Given the description of an element on the screen output the (x, y) to click on. 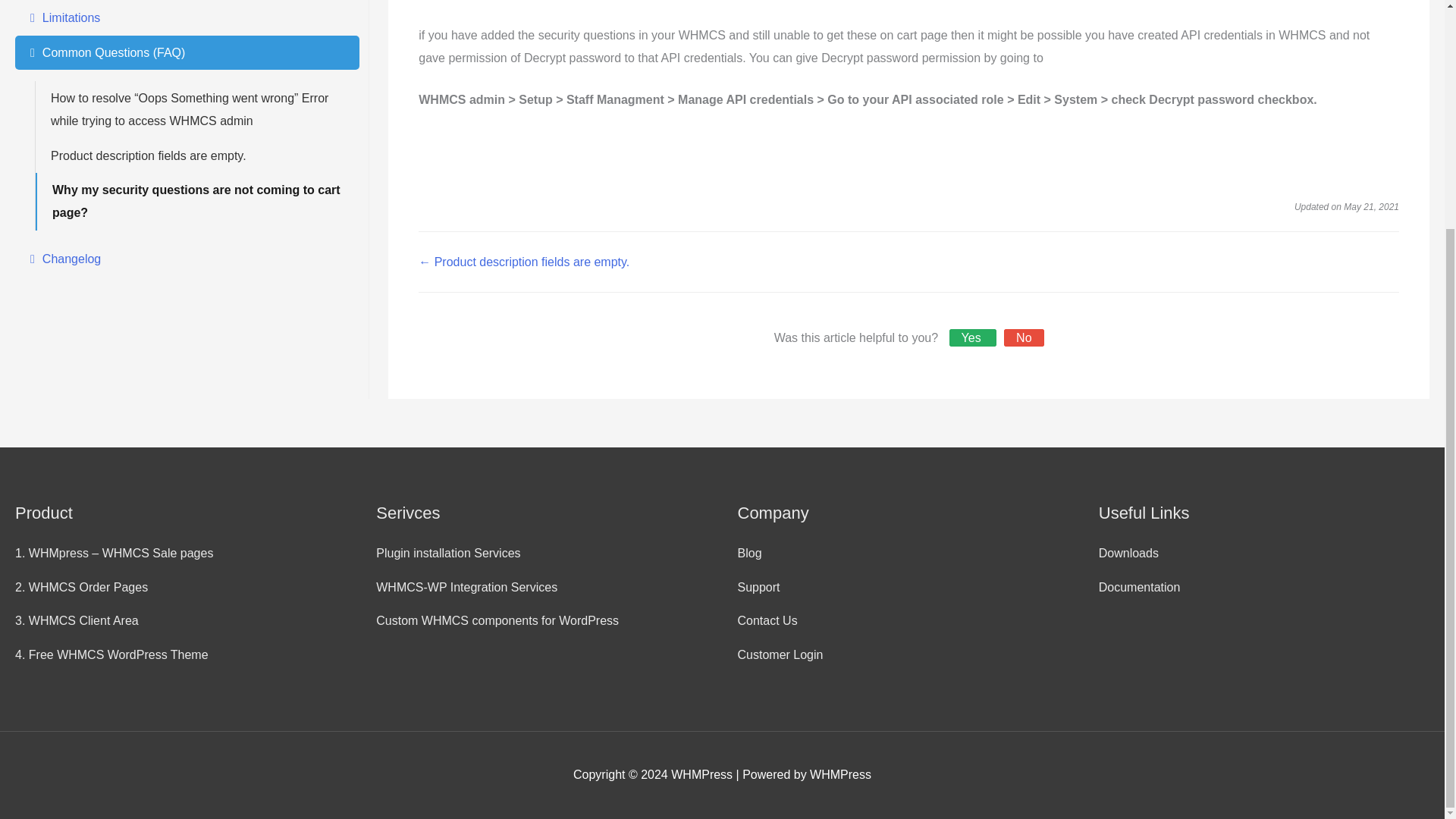
Product description fields are empty. (196, 155)
Limitations (186, 18)
No votes yet (973, 337)
Why my security questions are not coming to cart page? (196, 201)
No votes yet (1023, 337)
